Given the description of an element on the screen output the (x, y) to click on. 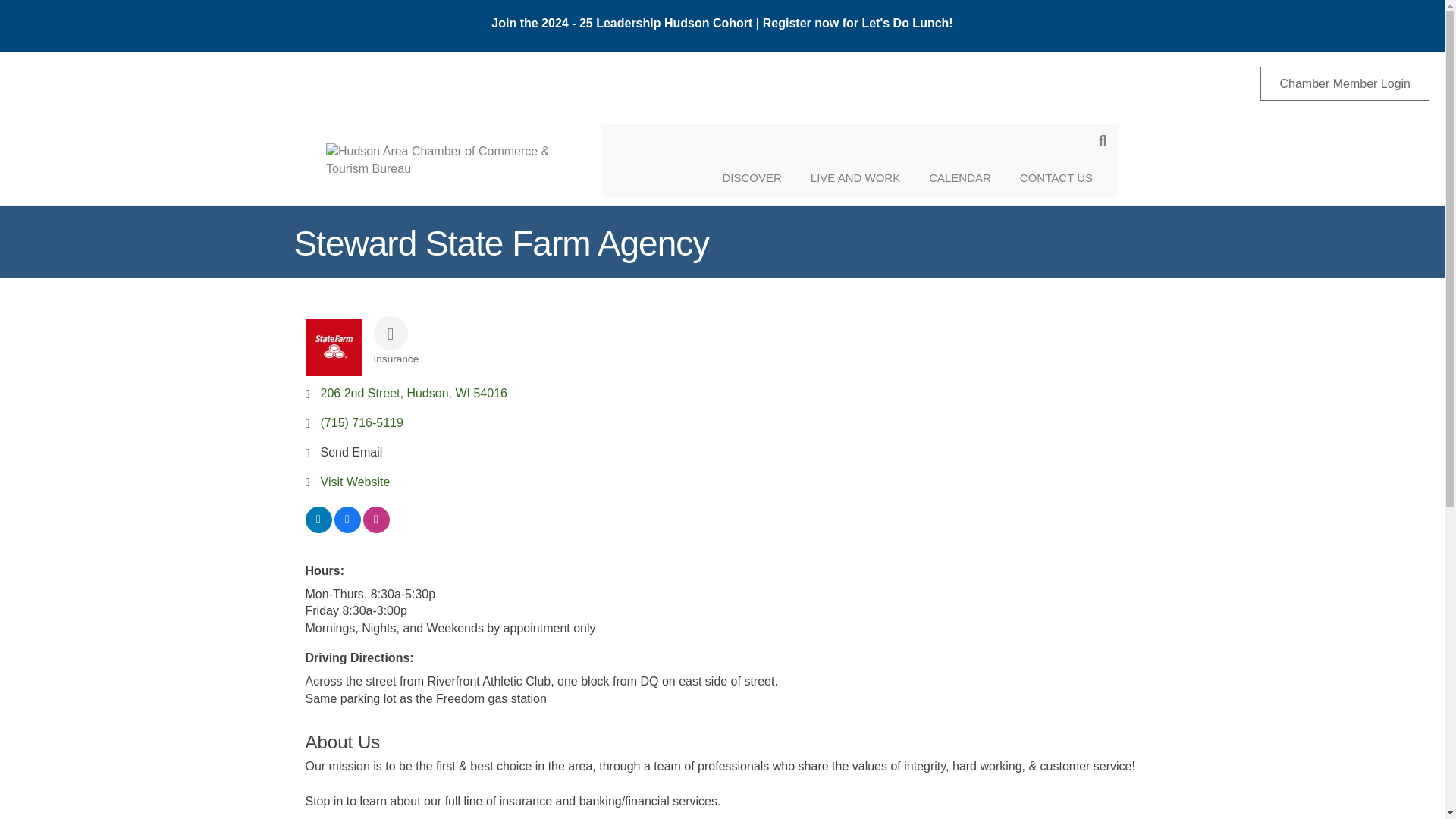
View on Facebook (346, 528)
View on LinkedIn (317, 528)
Join the 2024 - 25 Leadership Hudson Cohort (623, 22)
Chamber Member Login (1344, 83)
Register now for Let's Do Lunch! (857, 22)
LIVE AND WORK (855, 177)
Steward State Farm Agency (332, 347)
DISCOVER (750, 177)
View on Instagram (375, 528)
